Given the description of an element on the screen output the (x, y) to click on. 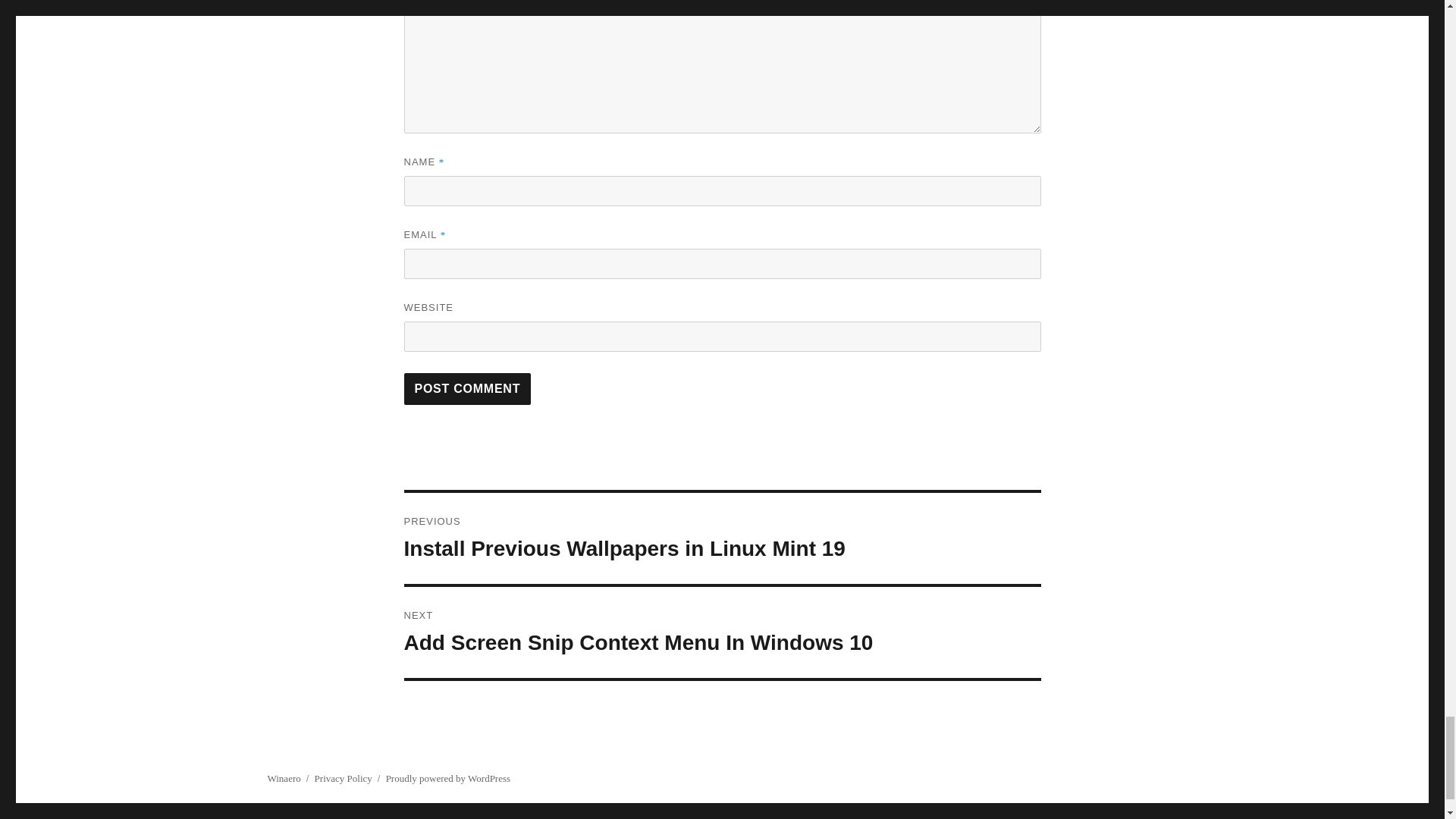
Post Comment (467, 388)
